Given the description of an element on the screen output the (x, y) to click on. 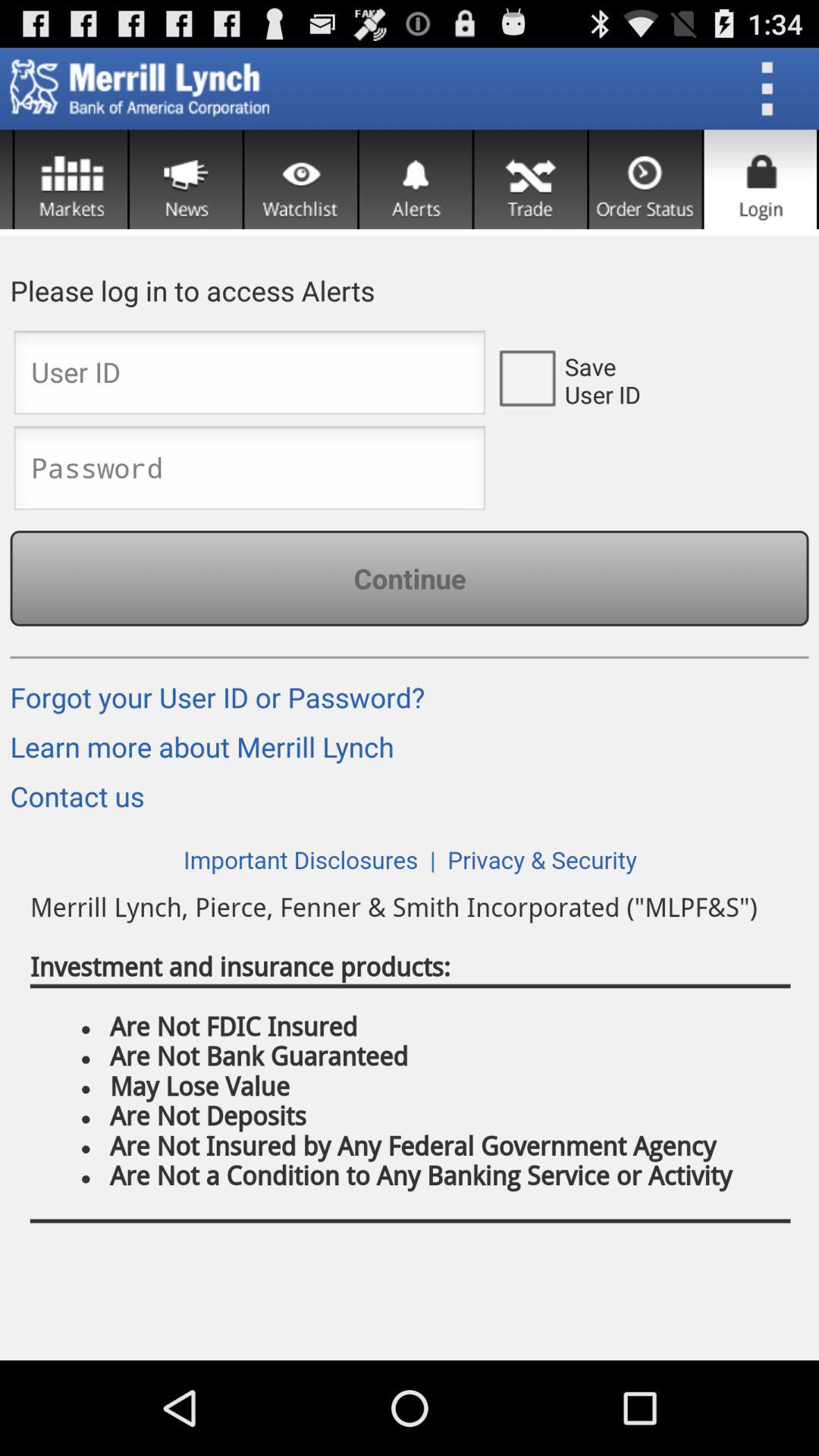
id entry (249, 376)
